Given the description of an element on the screen output the (x, y) to click on. 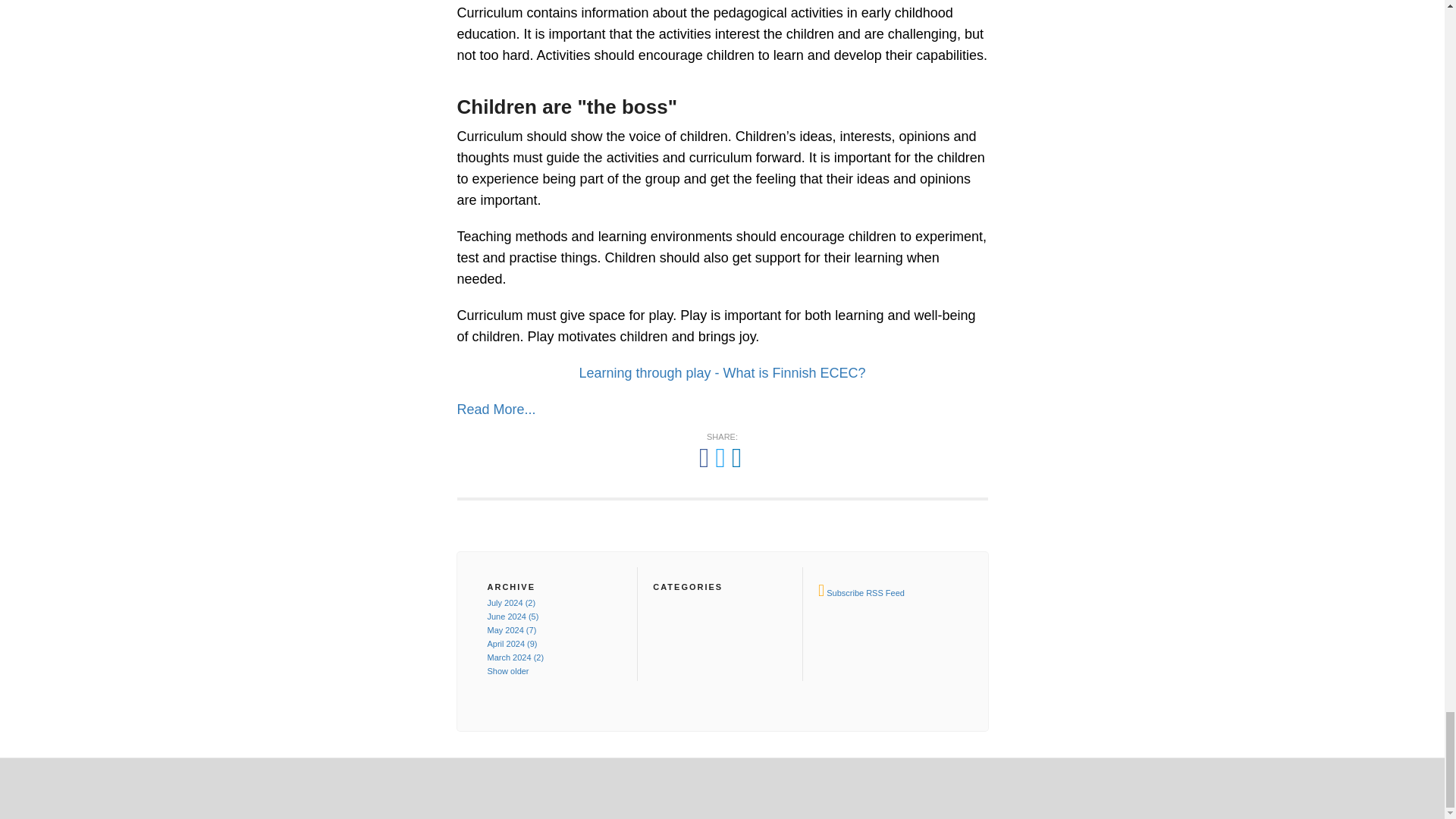
Learning through play - What is Finnish ECEC? (721, 372)
Read More... (496, 409)
